Given the description of an element on the screen output the (x, y) to click on. 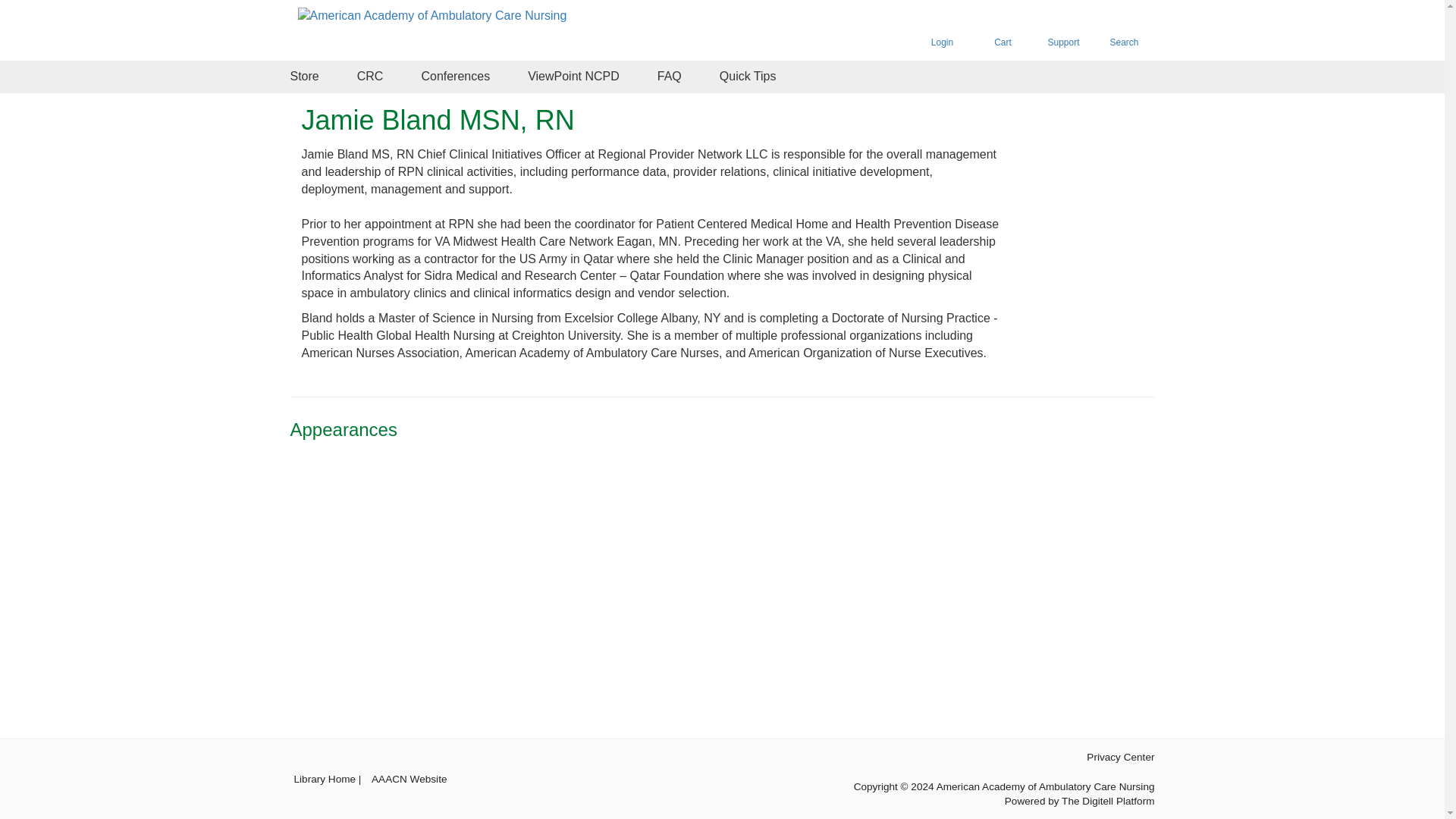
Quick Tips (747, 76)
CRC (370, 76)
Store (303, 76)
Support (1062, 30)
Cart (1002, 30)
Login (941, 30)
Conferences (454, 76)
Cart (1002, 30)
ViewPoint NCPD (573, 76)
Search (1123, 30)
